Given the description of an element on the screen output the (x, y) to click on. 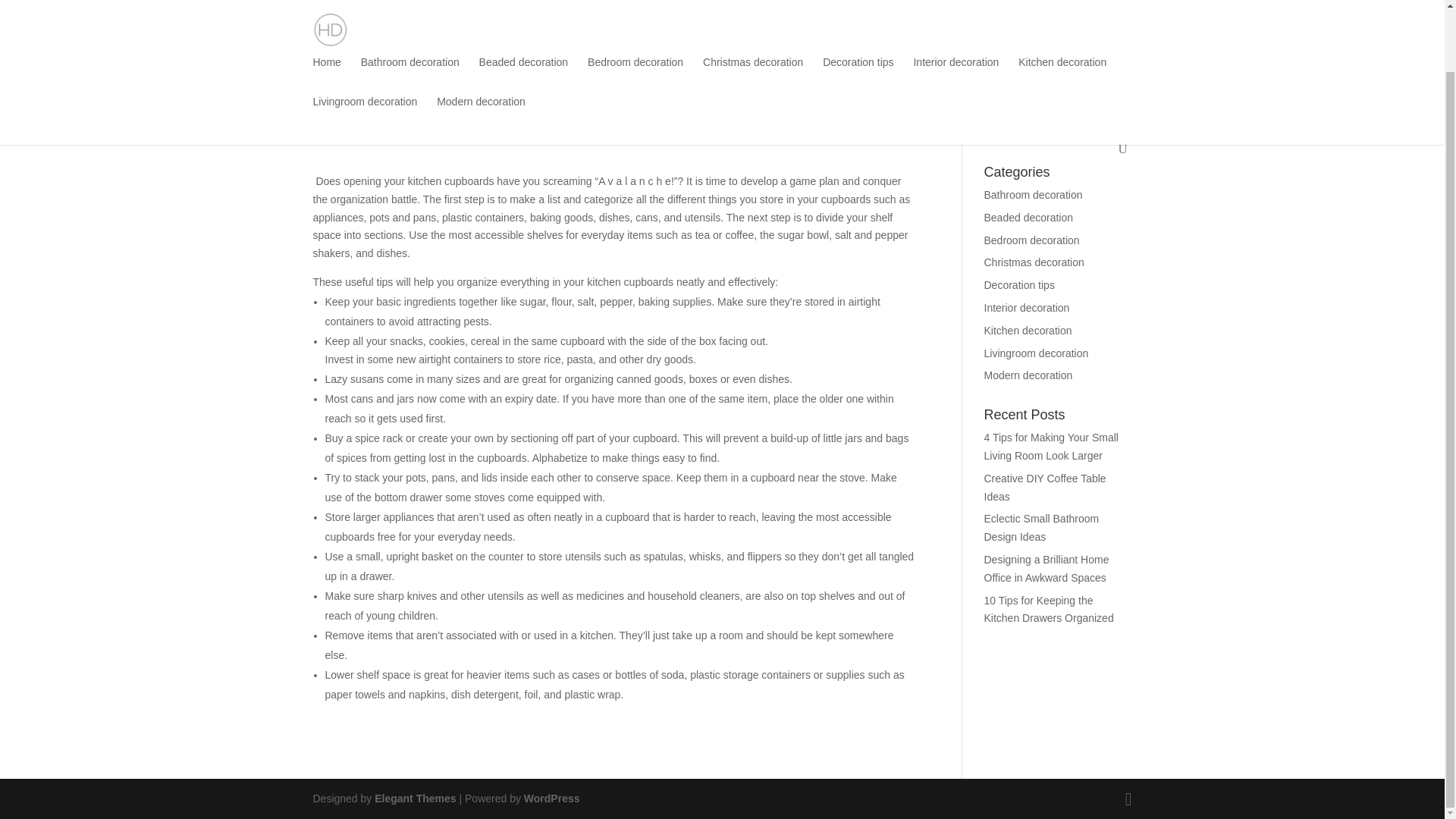
Decoration tips (857, 12)
Beaded decoration (524, 12)
Livingroom decoration (364, 45)
Christmas decoration (753, 12)
Search (1103, 131)
Modern decoration (1028, 375)
Search (1103, 131)
Eclectic Small Bathroom Design Ideas (1041, 527)
4 Tips for Making Your Small Living Room Look Larger (1051, 446)
Christmas decoration (1034, 262)
Interior decoration (1027, 307)
Kitchen decoration (1061, 12)
Designing a Brilliant Home Office in Awkward Spaces (1046, 568)
Bathroom decoration (410, 12)
10 Tips for Keeping the Kitchen Drawers Organized (1048, 609)
